Given the description of an element on the screen output the (x, y) to click on. 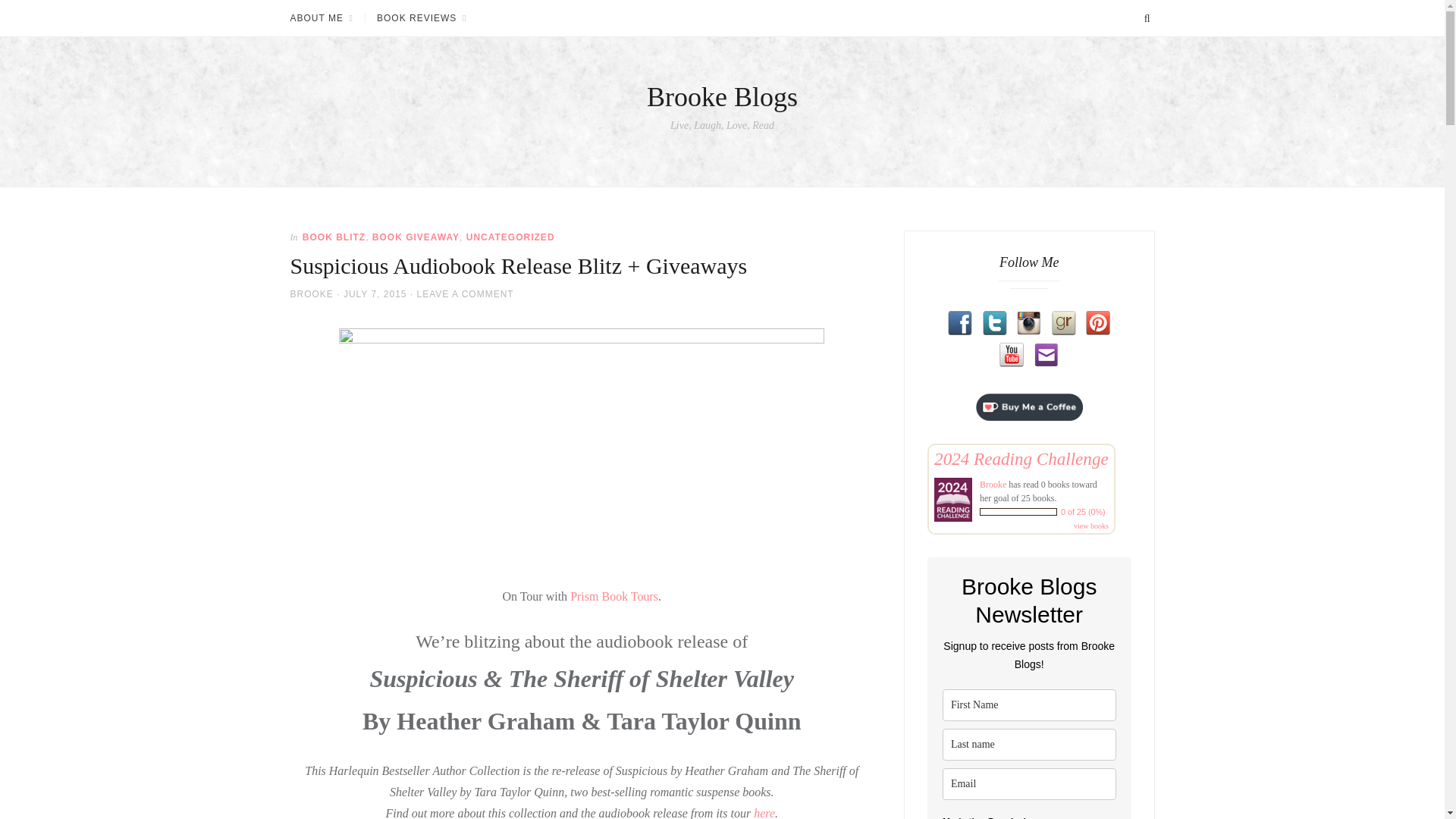
SEARCH (1147, 17)
BOOK BLITZ (333, 236)
here (764, 812)
JULY 7, 2015 (375, 294)
BROOKE (311, 294)
Brooke Blogs (721, 96)
BOOK REVIEWS (421, 17)
ABOUT ME (326, 17)
UNCATEGORIZED (509, 236)
Prism Book Tours (614, 595)
LEAVE A COMMENT (464, 294)
BOOK GIVEAWAY (416, 236)
